Given the description of an element on the screen output the (x, y) to click on. 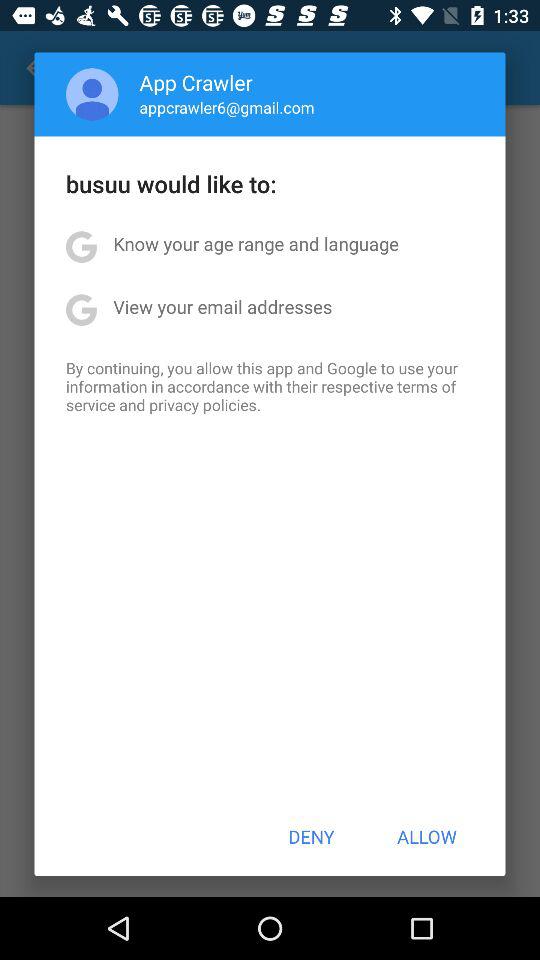
open the icon above by continuing you (222, 306)
